Given the description of an element on the screen output the (x, y) to click on. 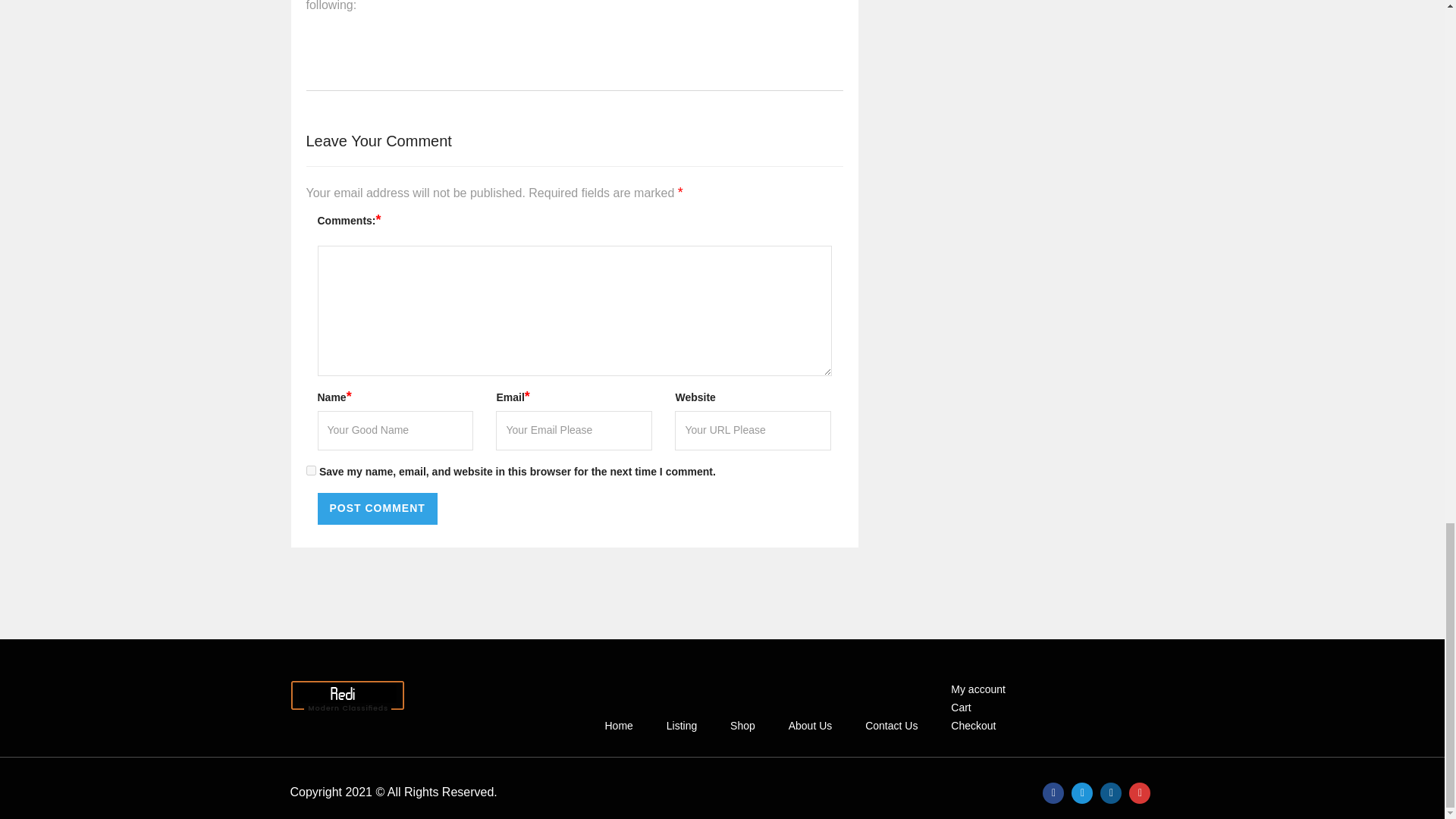
Contact Us (890, 725)
yes (310, 470)
Post Comment (376, 508)
Home (617, 725)
My account (977, 689)
Listing (681, 725)
Cart (960, 707)
About Us (810, 725)
Checkout (973, 725)
Post Comment (376, 508)
